Given the description of an element on the screen output the (x, y) to click on. 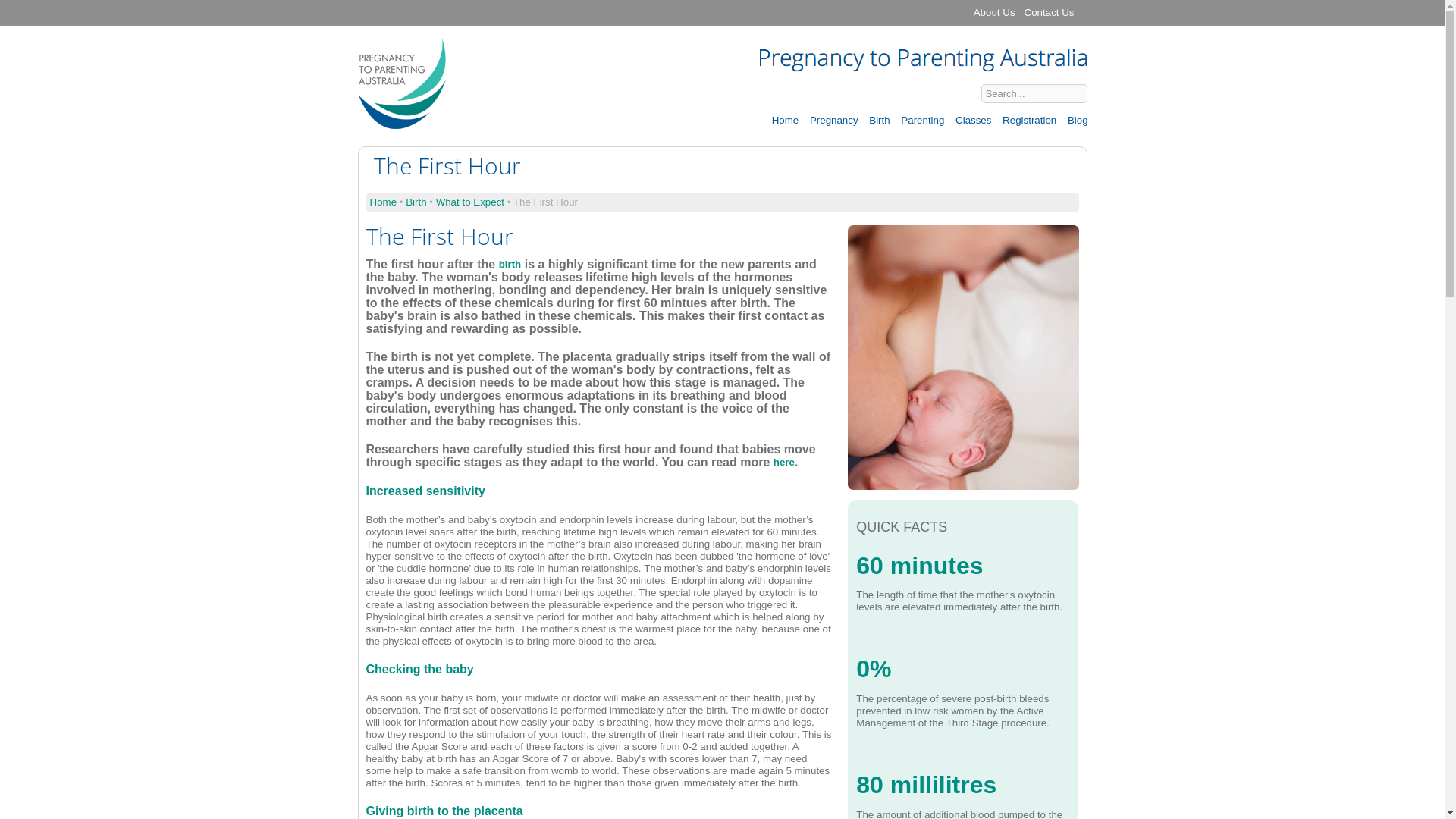
Birth Element type: text (878, 119)
Search Element type: text (1111, 92)
birth Element type: text (509, 263)
Birth Element type: text (415, 201)
Enter the terms you wish to search for. Element type: hover (1034, 93)
About Us Element type: text (994, 12)
Home Element type: text (784, 119)
What to Expect Element type: text (470, 201)
Blog Element type: text (1076, 119)
Pregnancy to Parenting Australia Element type: text (437, 58)
Home Element type: hover (401, 122)
Skip to main content Element type: text (690, 1)
Classes Element type: text (972, 119)
Contact Us Element type: text (1049, 12)
Pregnancy Element type: text (833, 119)
Parenting Element type: text (921, 119)
Registration Element type: text (1028, 119)
The First Hour Element type: hover (963, 483)
here Element type: text (783, 461)
Home Element type: text (383, 201)
